Given the description of an element on the screen output the (x, y) to click on. 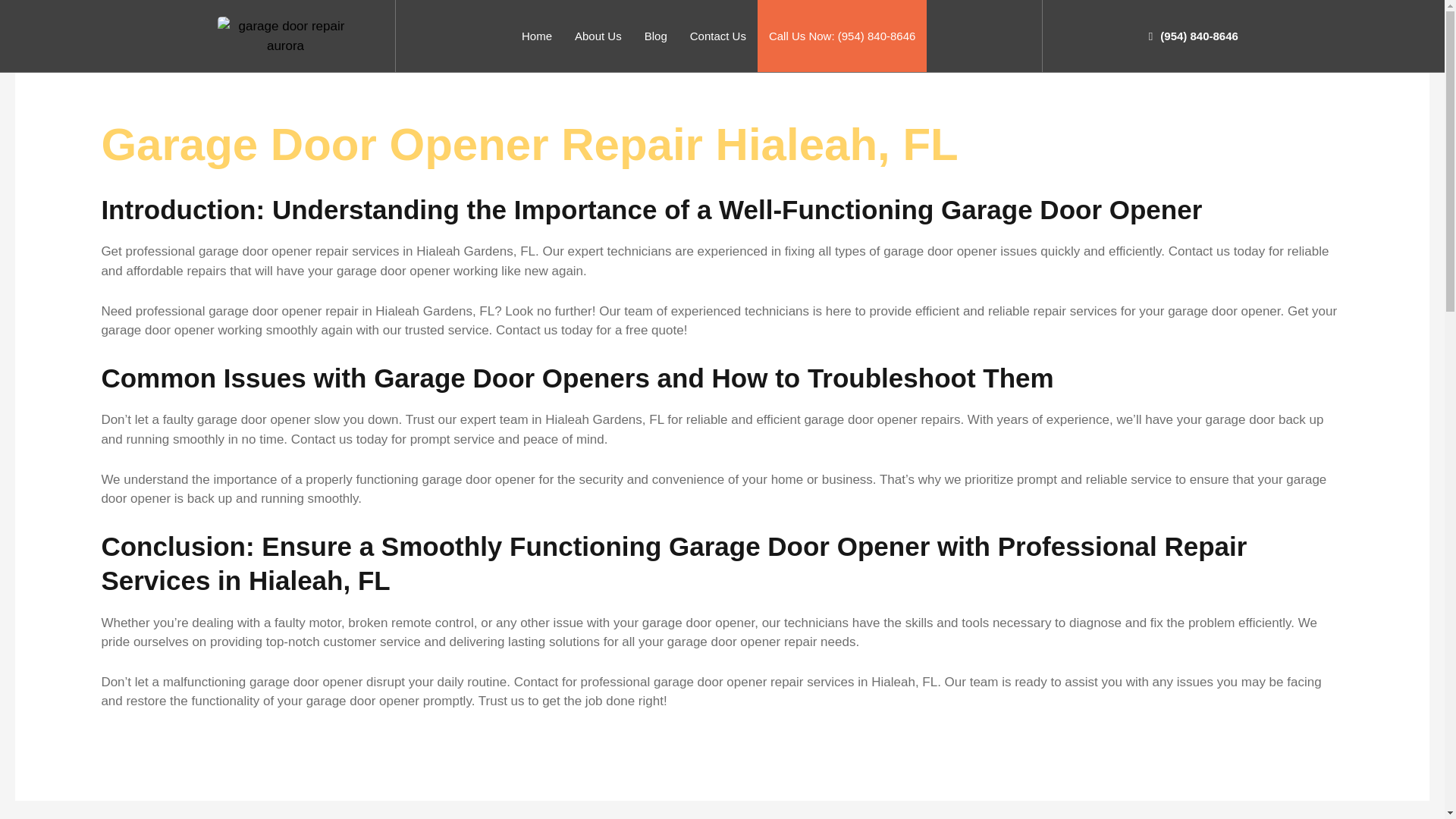
Contact Us (717, 36)
About Us (598, 36)
garage door repair aurora (284, 35)
